Given the description of an element on the screen output the (x, y) to click on. 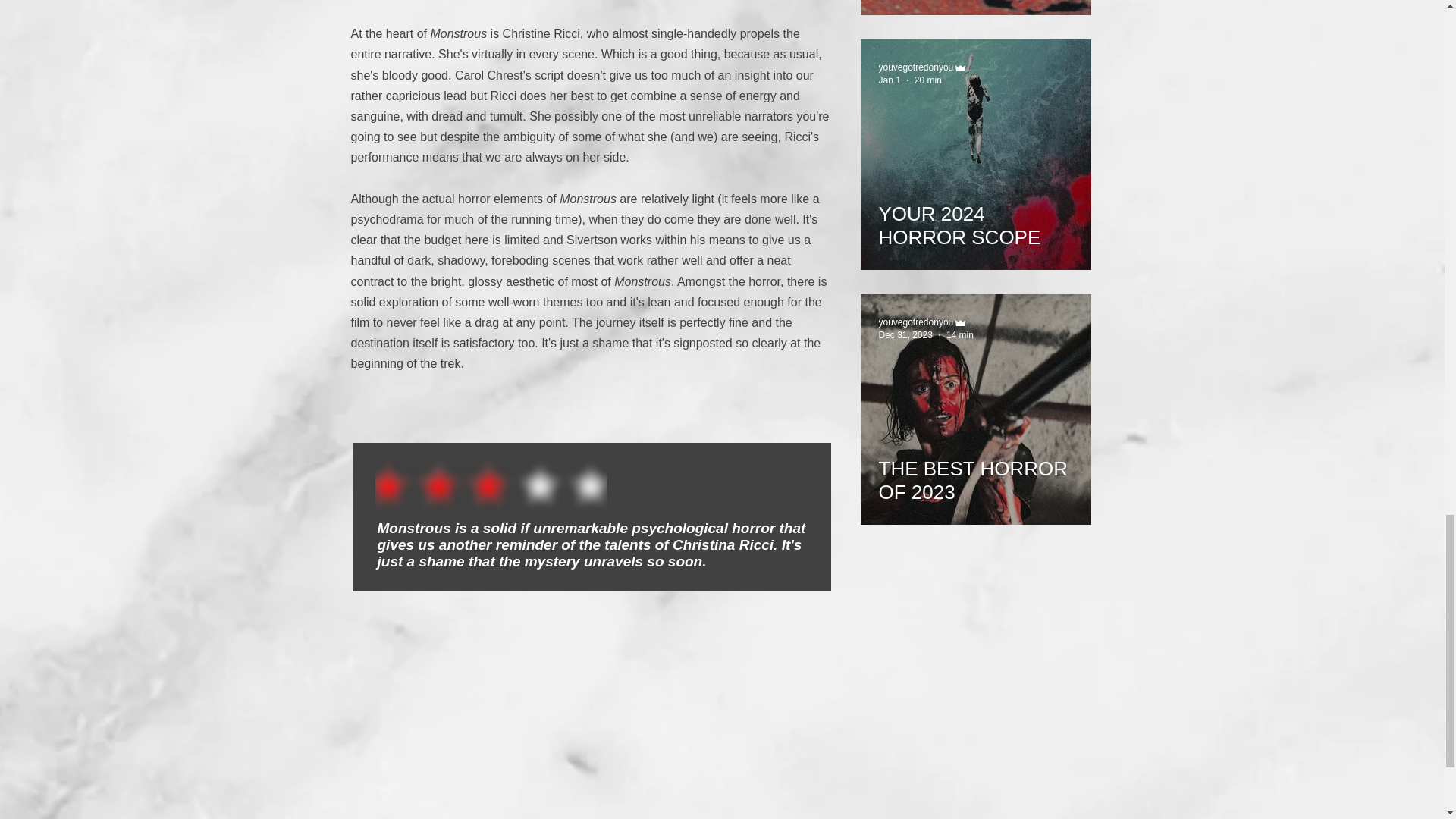
Dec 31, 2023 (904, 335)
YOUR 2024 HORROR SCOPE (974, 219)
14 min (960, 335)
THE BEST HORROR OF 2023 (974, 473)
youvegotredonyou (915, 67)
Jan 1 (888, 80)
20 min (928, 80)
youvegotredonyou (915, 321)
